Given the description of an element on the screen output the (x, y) to click on. 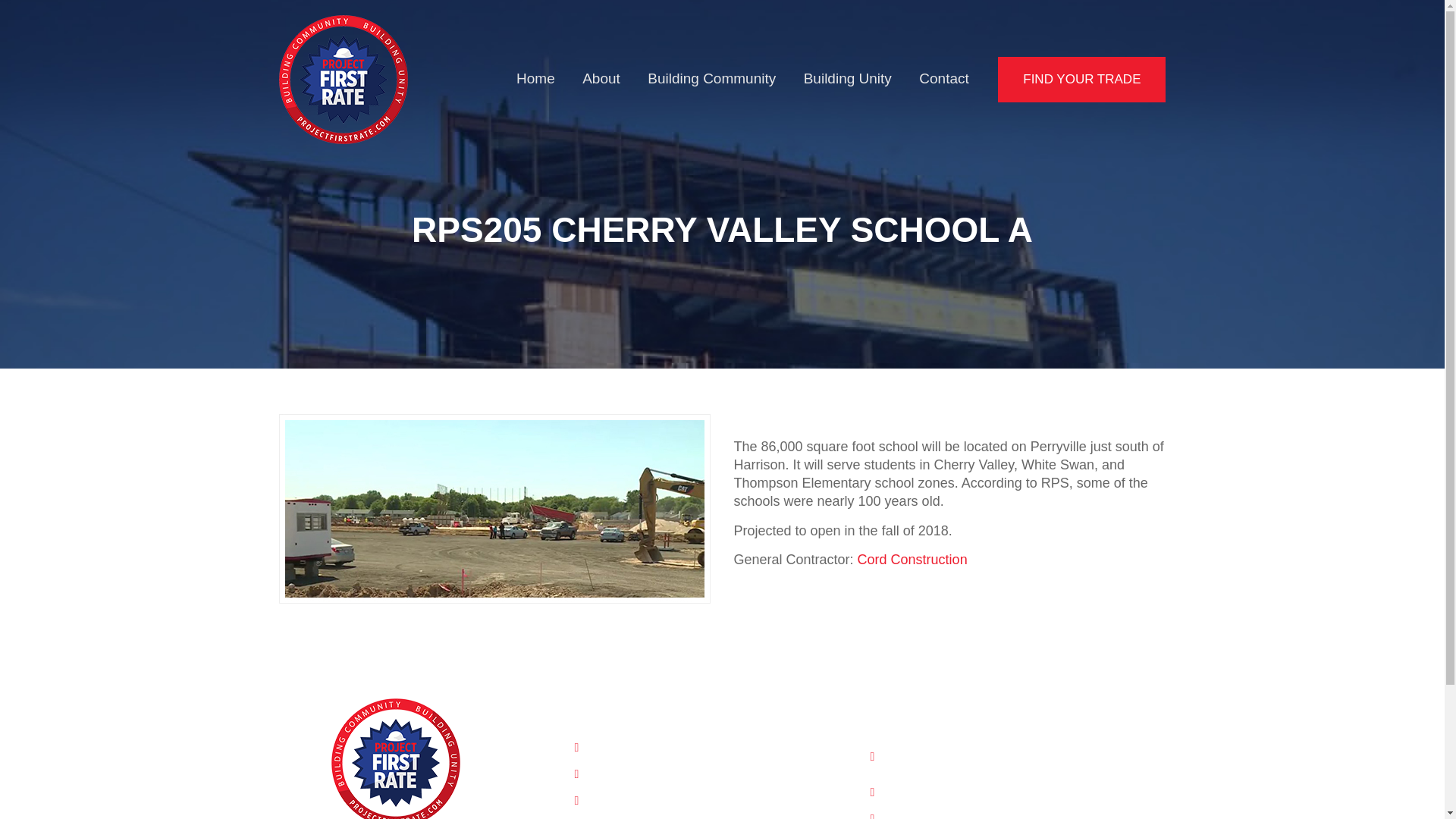
Building Community (711, 78)
FIND YOUR TRADE (1081, 79)
Home (535, 78)
Building Unity (847, 78)
Contact (943, 78)
About (601, 78)
